Given the description of an element on the screen output the (x, y) to click on. 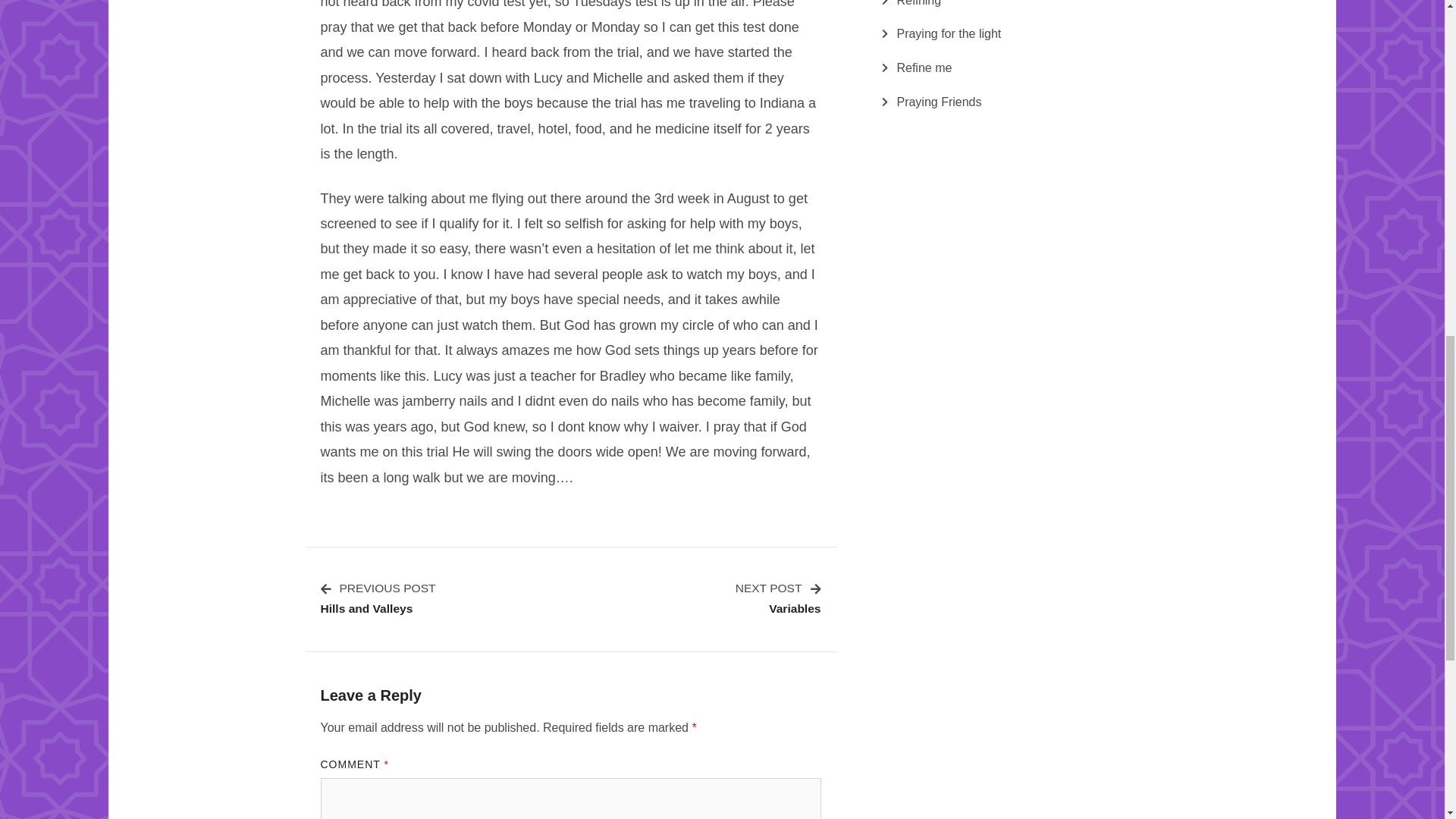
Praying for the light (778, 597)
Praying Friends (948, 33)
Refining (938, 101)
Refine me (918, 6)
